Given the description of an element on the screen output the (x, y) to click on. 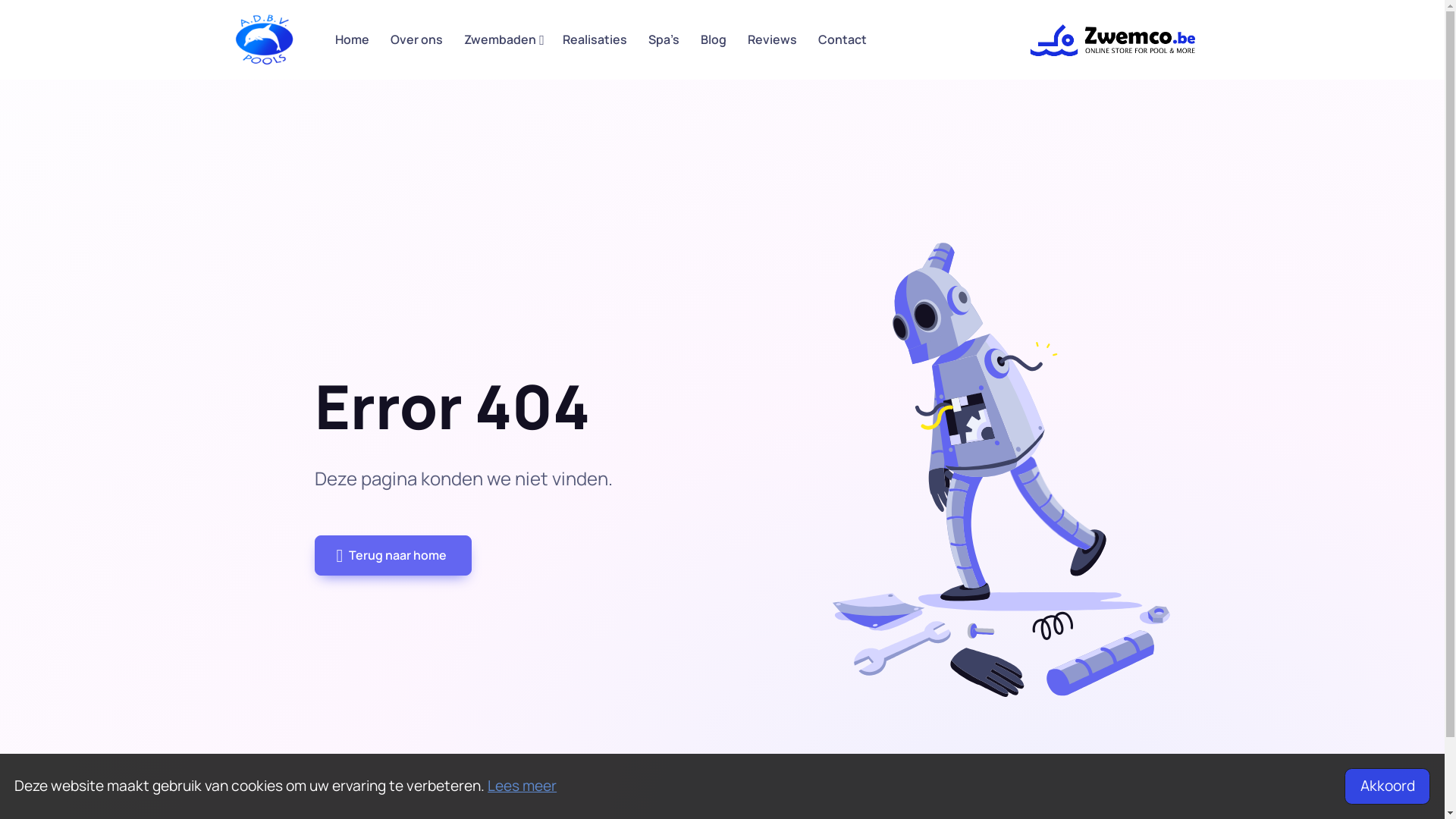
Skip to navigation Element type: text (233, 39)
Over ons Element type: text (415, 39)
Akkoord Element type: text (1386, 786)
Contact Element type: text (842, 39)
Lees meer Element type: text (521, 785)
Reviews Element type: text (772, 39)
Home Element type: text (351, 39)
Zwembaden Element type: text (502, 39)
Terug naar home Element type: text (392, 555)
Blog Element type: text (713, 39)
Realisaties Element type: text (594, 39)
